Given the description of an element on the screen output the (x, y) to click on. 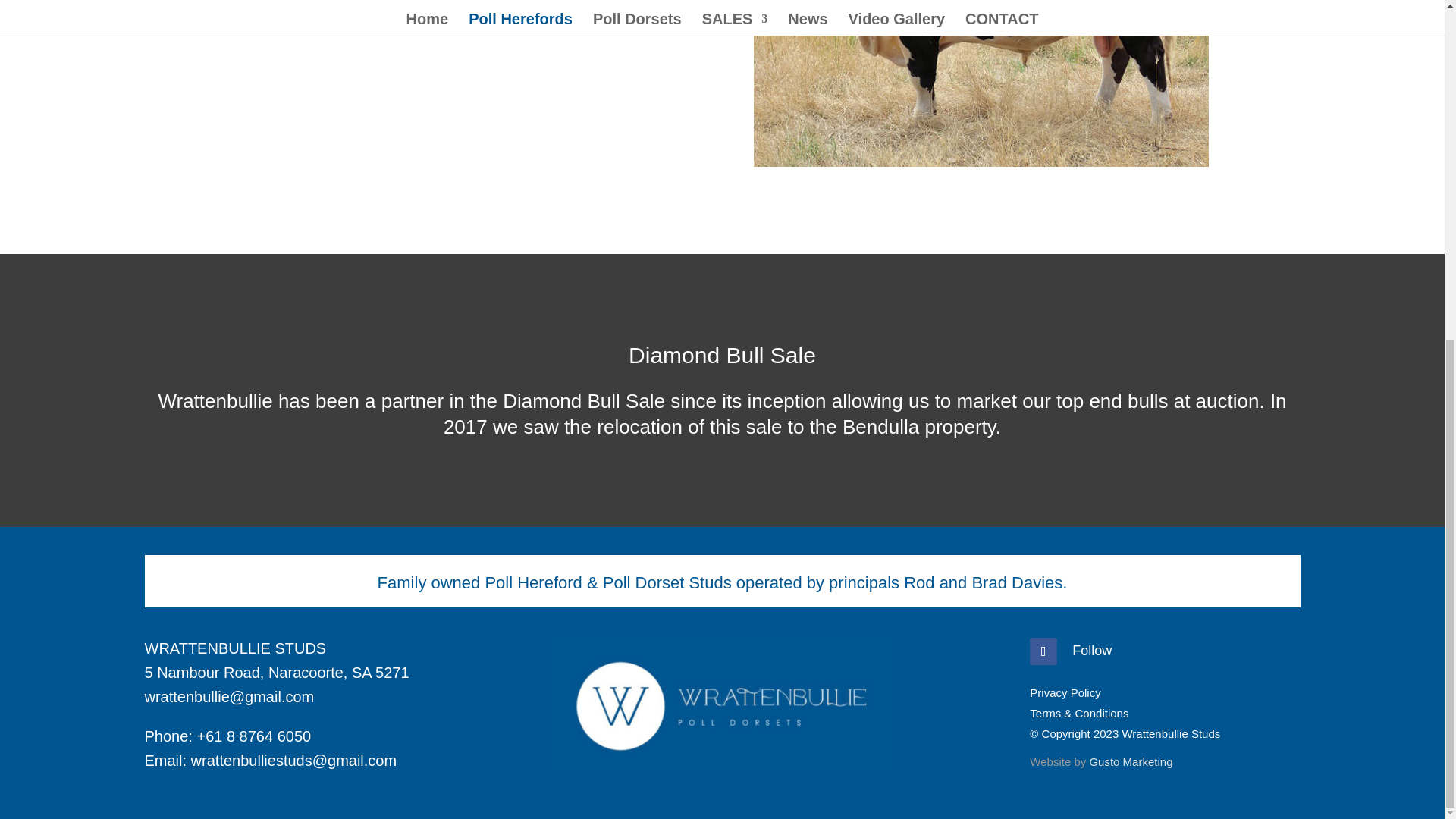
Facebook (1091, 650)
Follow (1091, 650)
Follow on Facebook (1043, 651)
Gusto Marketing (1130, 761)
Privacy Policy (1064, 692)
